Given the description of an element on the screen output the (x, y) to click on. 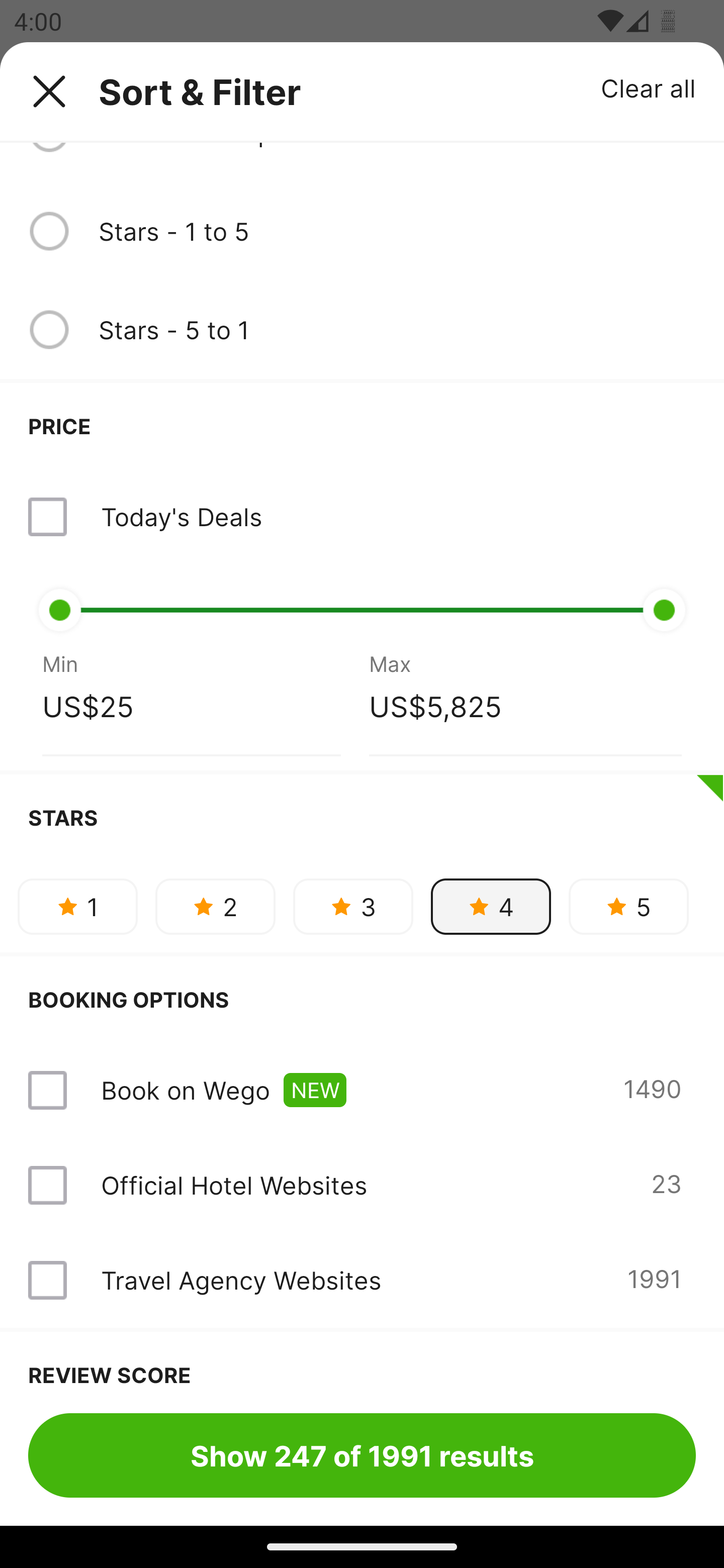
Clear all (648, 87)
Stars - 1 to 5 (362, 230)
Stars - 1 to 5 (396, 231)
Stars - 5 to 1 (362, 329)
Stars - 5 to 1 (396, 329)
Today's Deals (362, 516)
Today's Deals (181, 516)
1 (77, 906)
2 (214, 906)
3 (352, 906)
4 (491, 906)
5 (627, 906)
Book on Wego NEW 1490 (362, 1090)
Book on Wego (184, 1089)
Official Hotel Websites 23 (362, 1185)
Official Hotel Websites (233, 1185)
Travel Agency Websites 1991 (362, 1280)
